Given the description of an element on the screen output the (x, y) to click on. 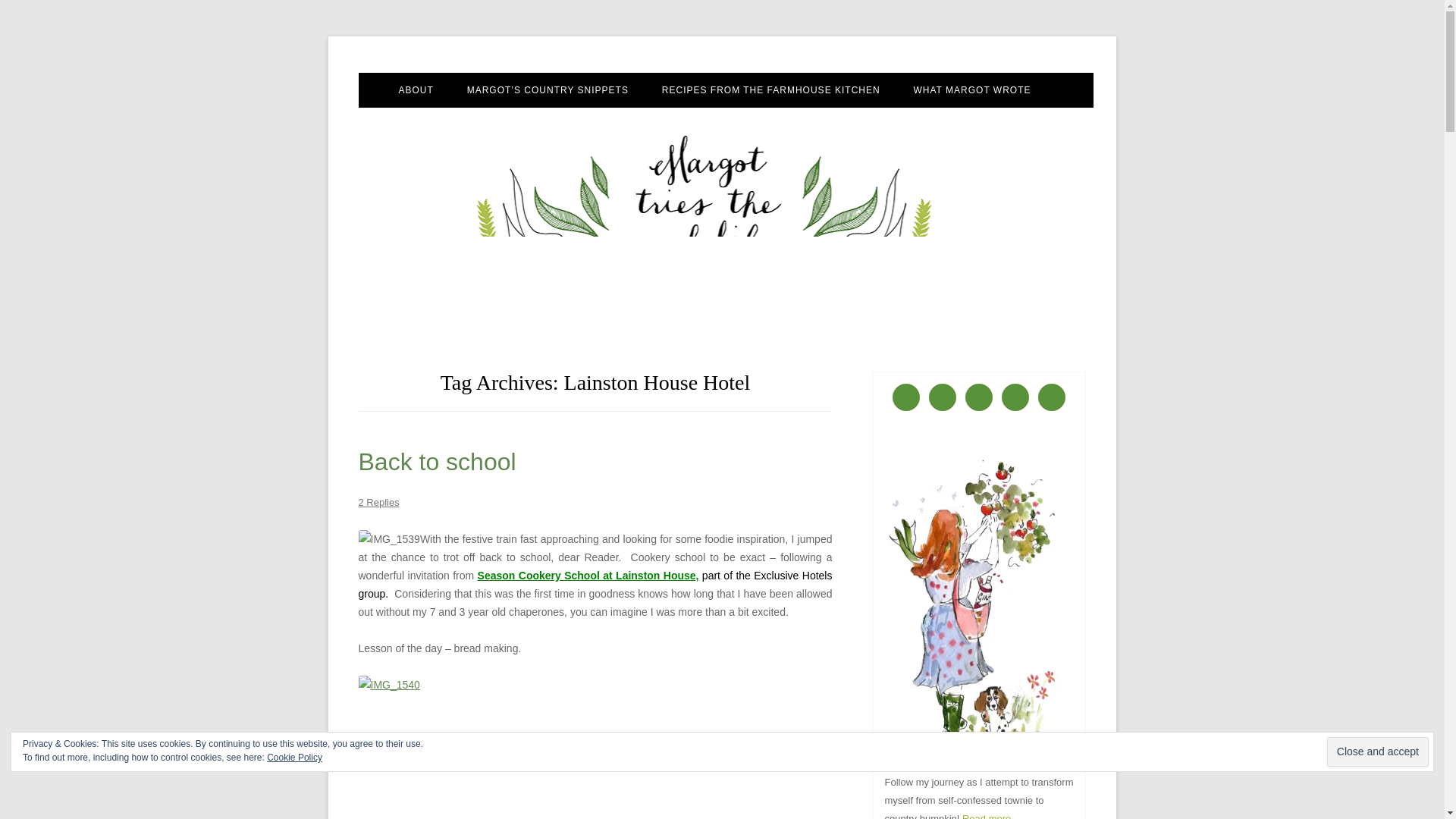
Back to school (436, 461)
WHAT MARGOT WROTE (972, 90)
RECIPES FROM THE FARMHOUSE KITCHEN (771, 90)
Close and accept (1377, 751)
Season Cookery School at Lainston House, (587, 575)
THE FARMYARD (542, 122)
2 Replies (378, 501)
Margot Tries the Good Life (482, 72)
